Given the description of an element on the screen output the (x, y) to click on. 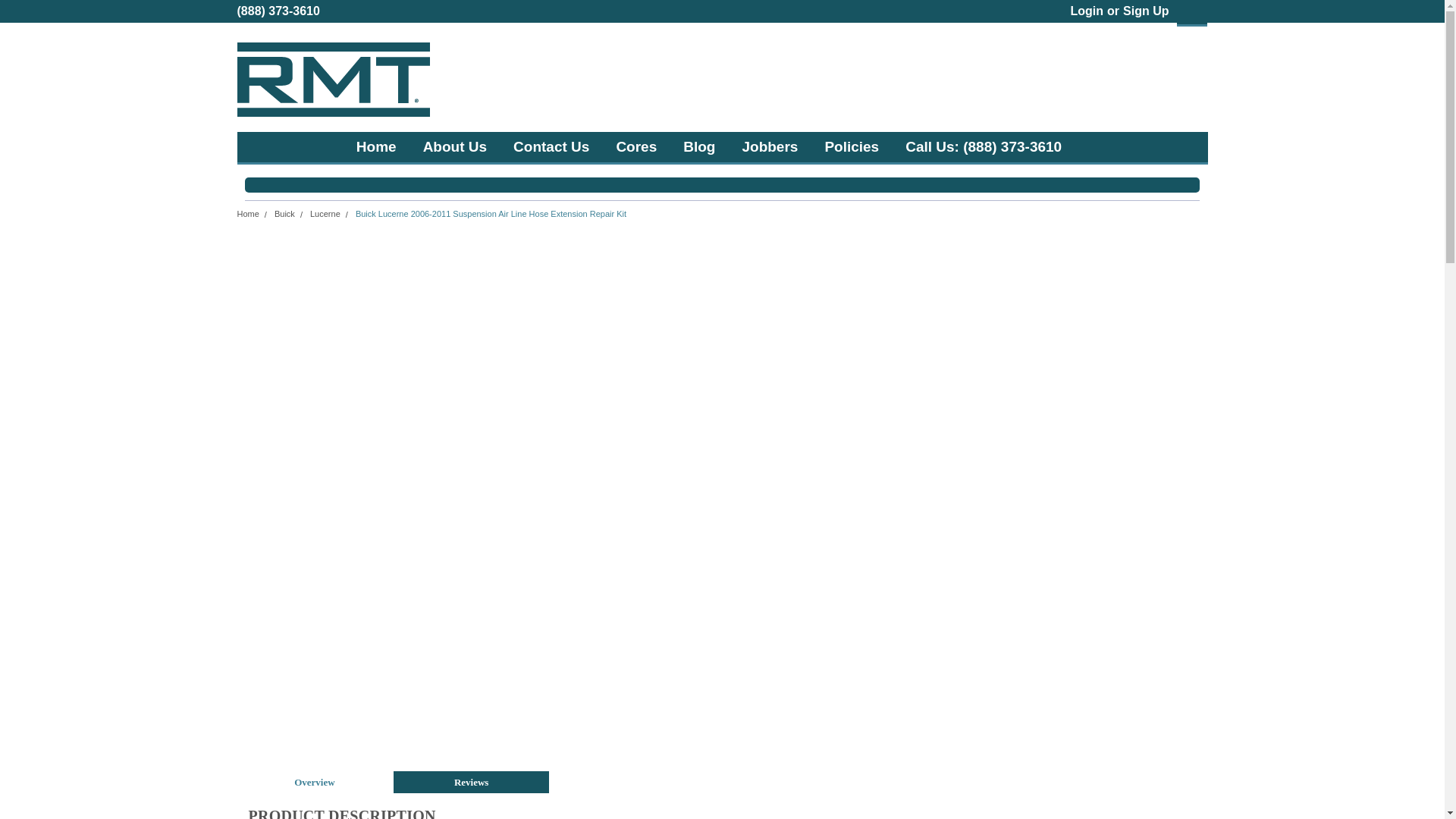
Rebuild Master Tech (332, 79)
Sign Up (1144, 11)
Login (1086, 11)
